Given the description of an element on the screen output the (x, y) to click on. 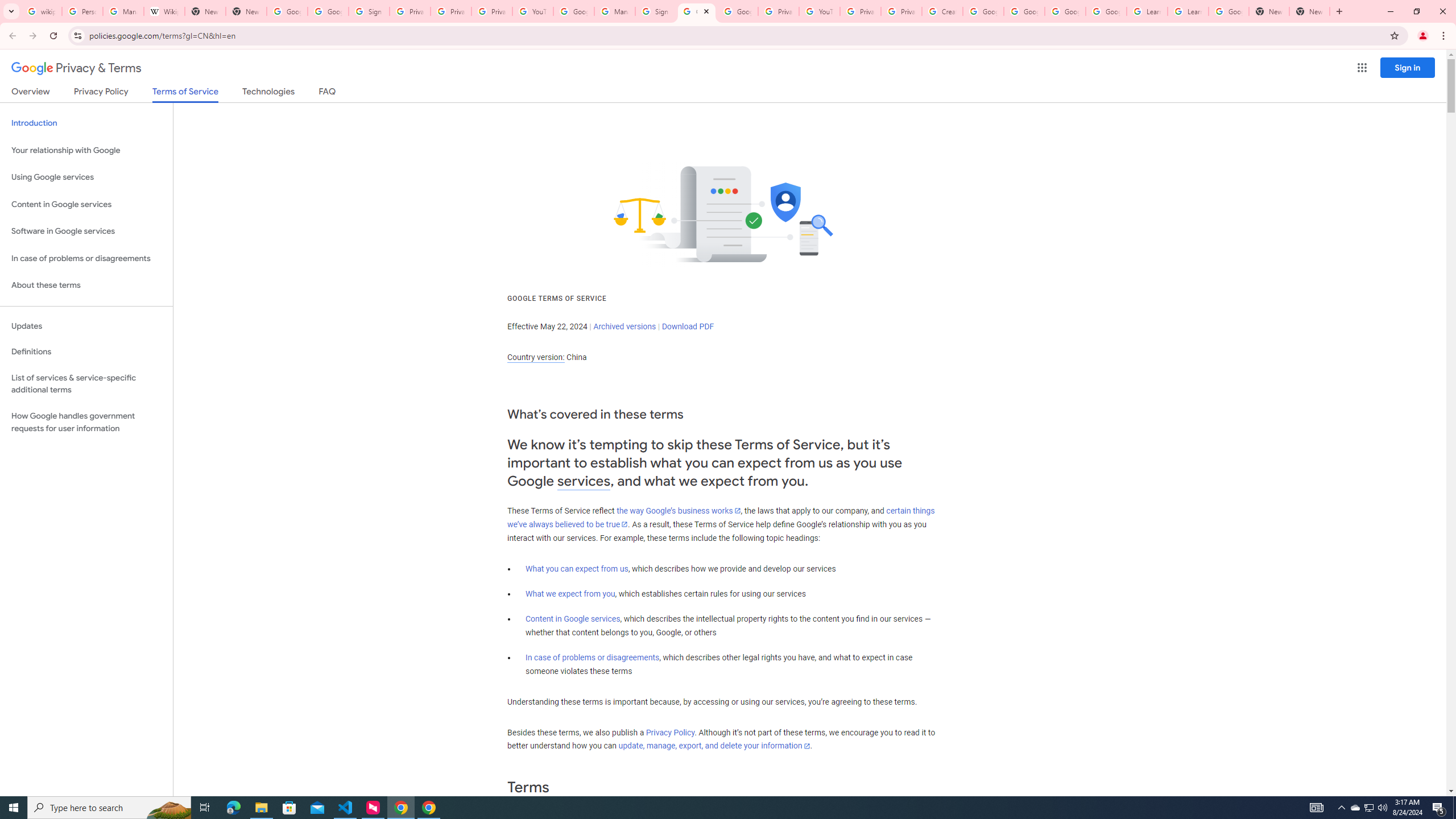
Privacy Policy (669, 732)
Address and search bar (735, 35)
New Tab (1309, 11)
New Tab (1268, 11)
Google Account (1228, 11)
How Google handles government requests for user information (86, 422)
FAQ (327, 93)
